Given the description of an element on the screen output the (x, y) to click on. 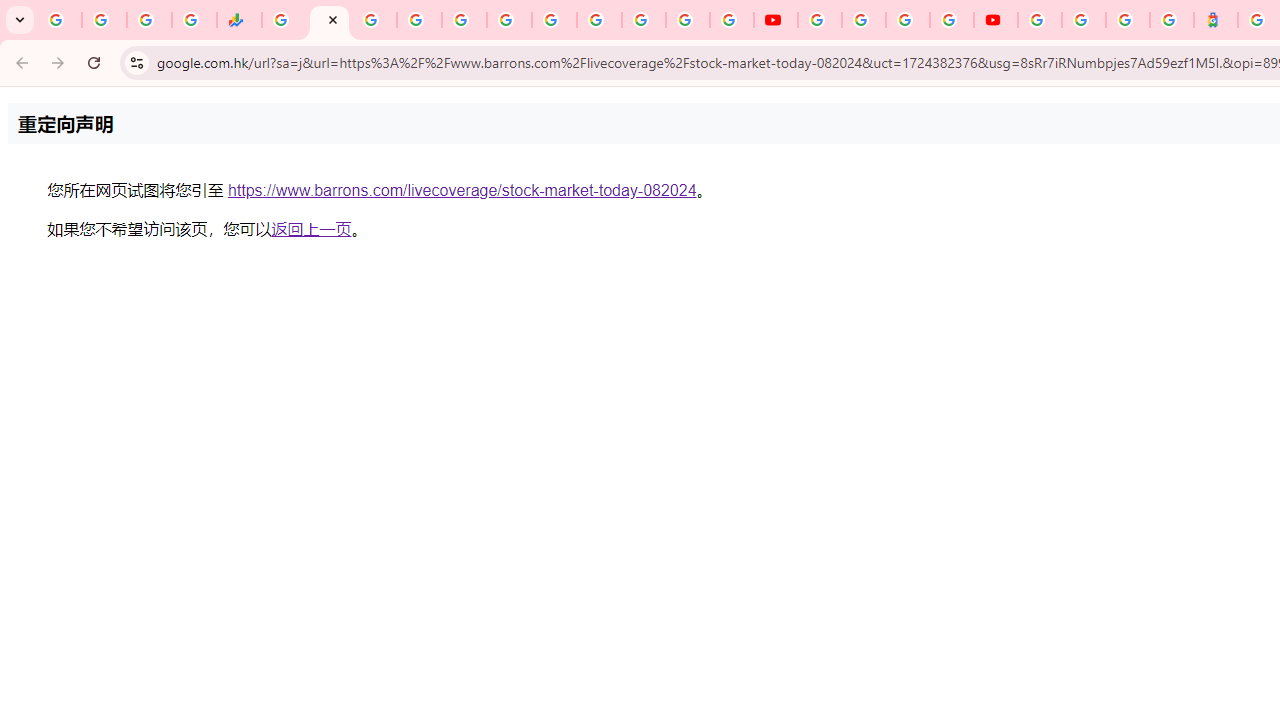
Privacy Checkup (731, 20)
